Given the description of an element on the screen output the (x, y) to click on. 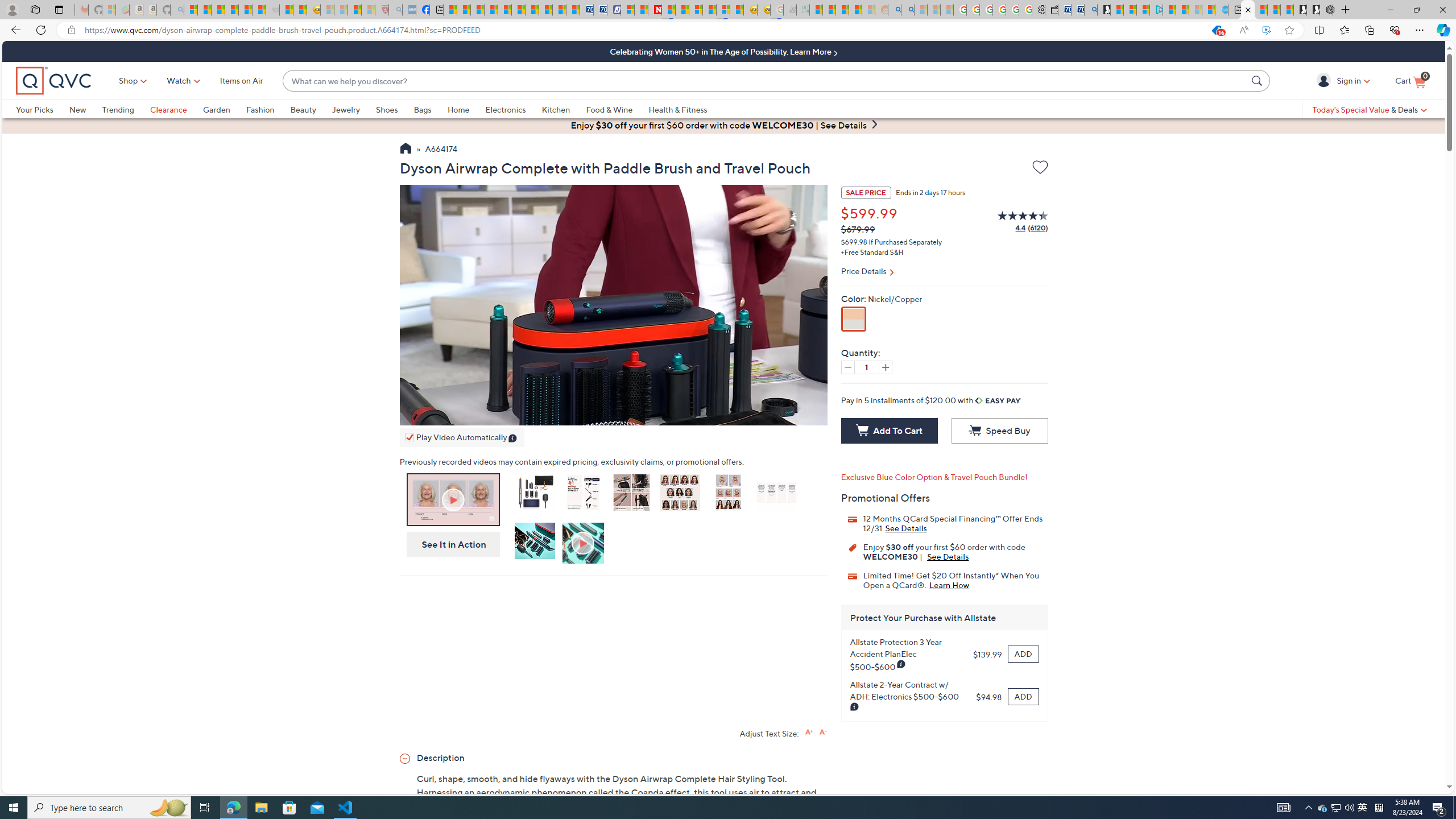
Bags (429, 109)
Items on Air (241, 80)
Today's Special Value & Deals (1369, 109)
Today's Special Value & Deals (1369, 109)
